Given the description of an element on the screen output the (x, y) to click on. 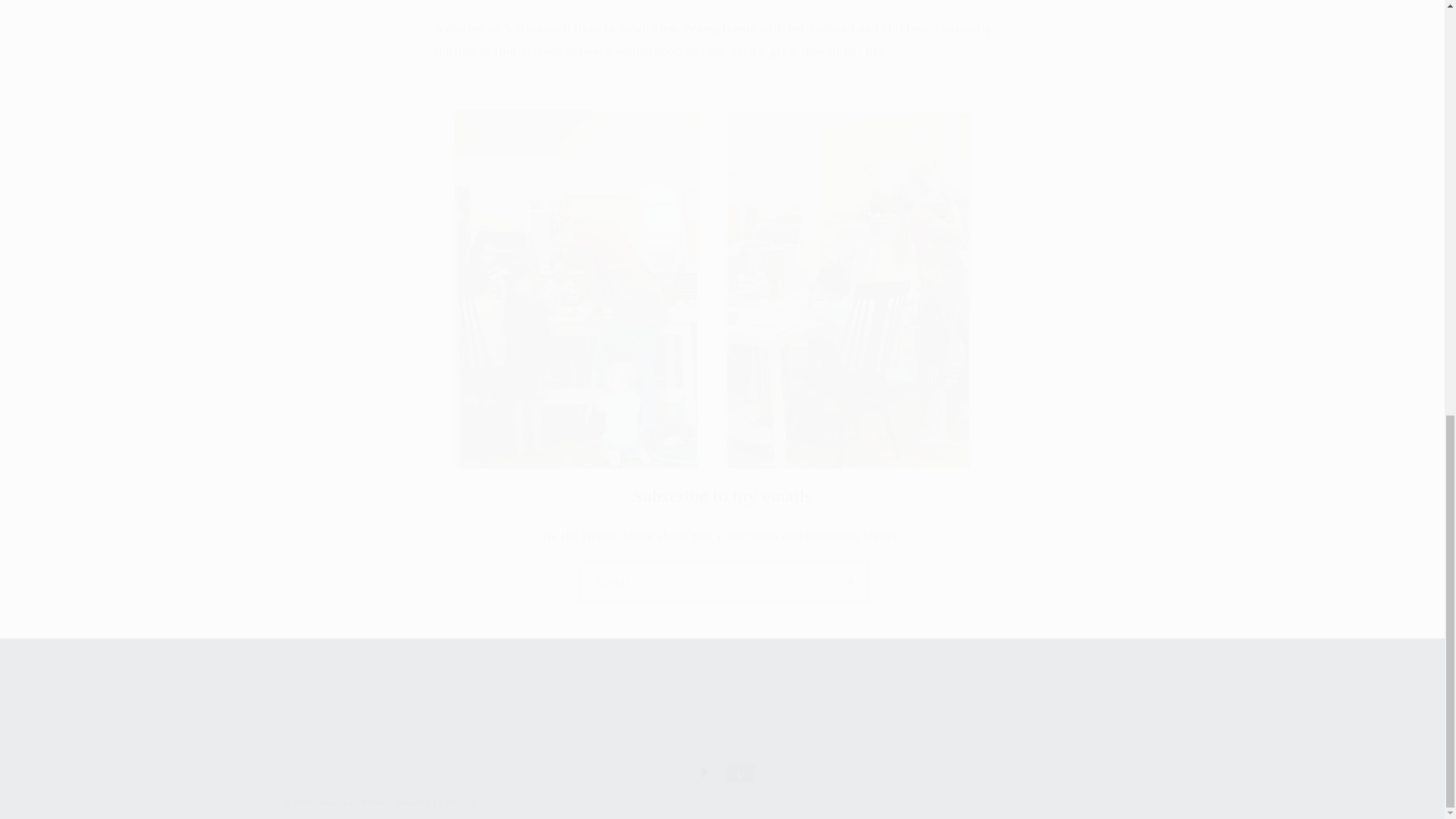
Susannah Klinvex (354, 801)
Subscribe to my emails (722, 495)
Email (722, 580)
Powered by Shopify (435, 801)
